Given the description of an element on the screen output the (x, y) to click on. 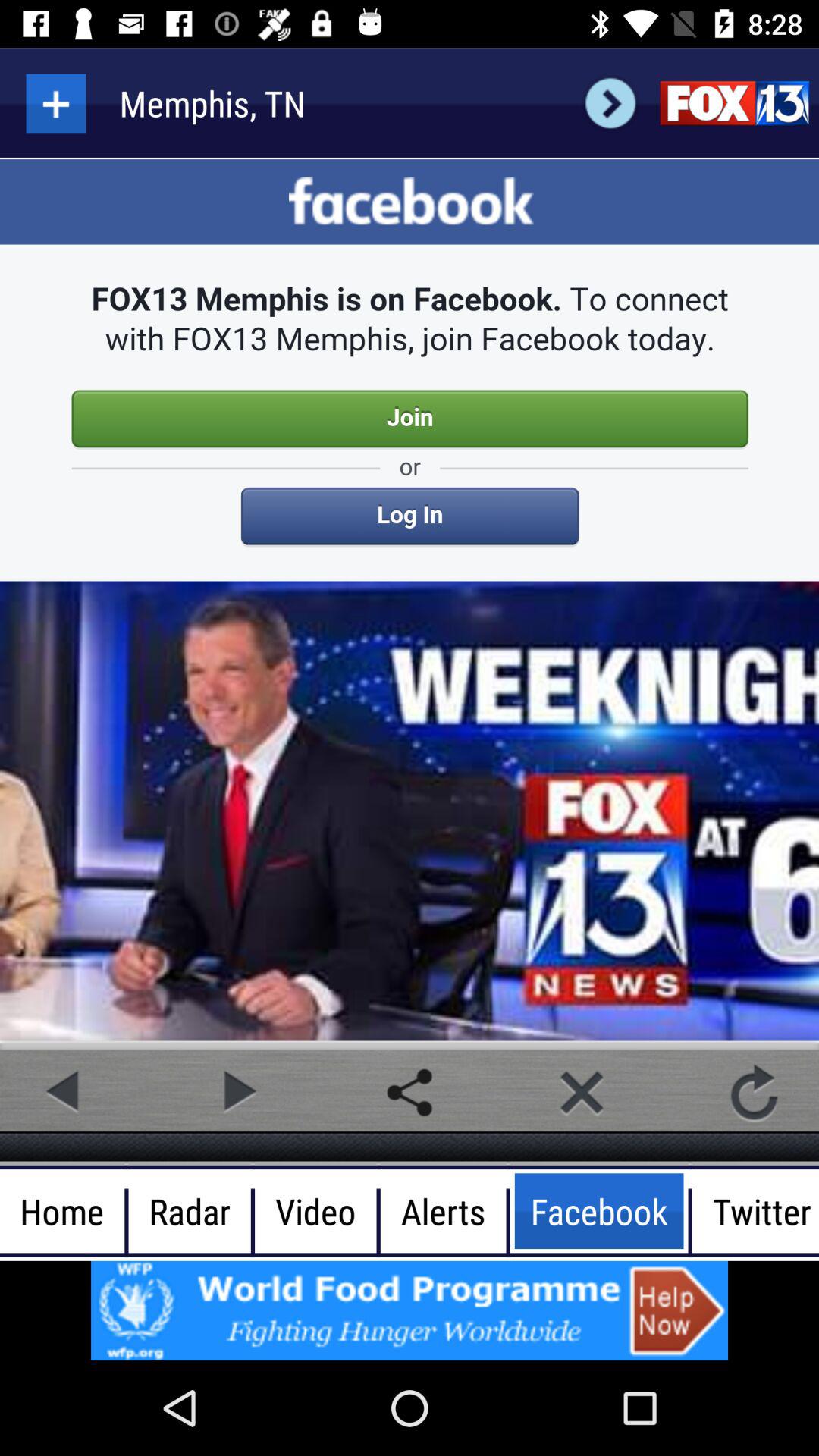
go to homepage (734, 103)
